Given the description of an element on the screen output the (x, y) to click on. 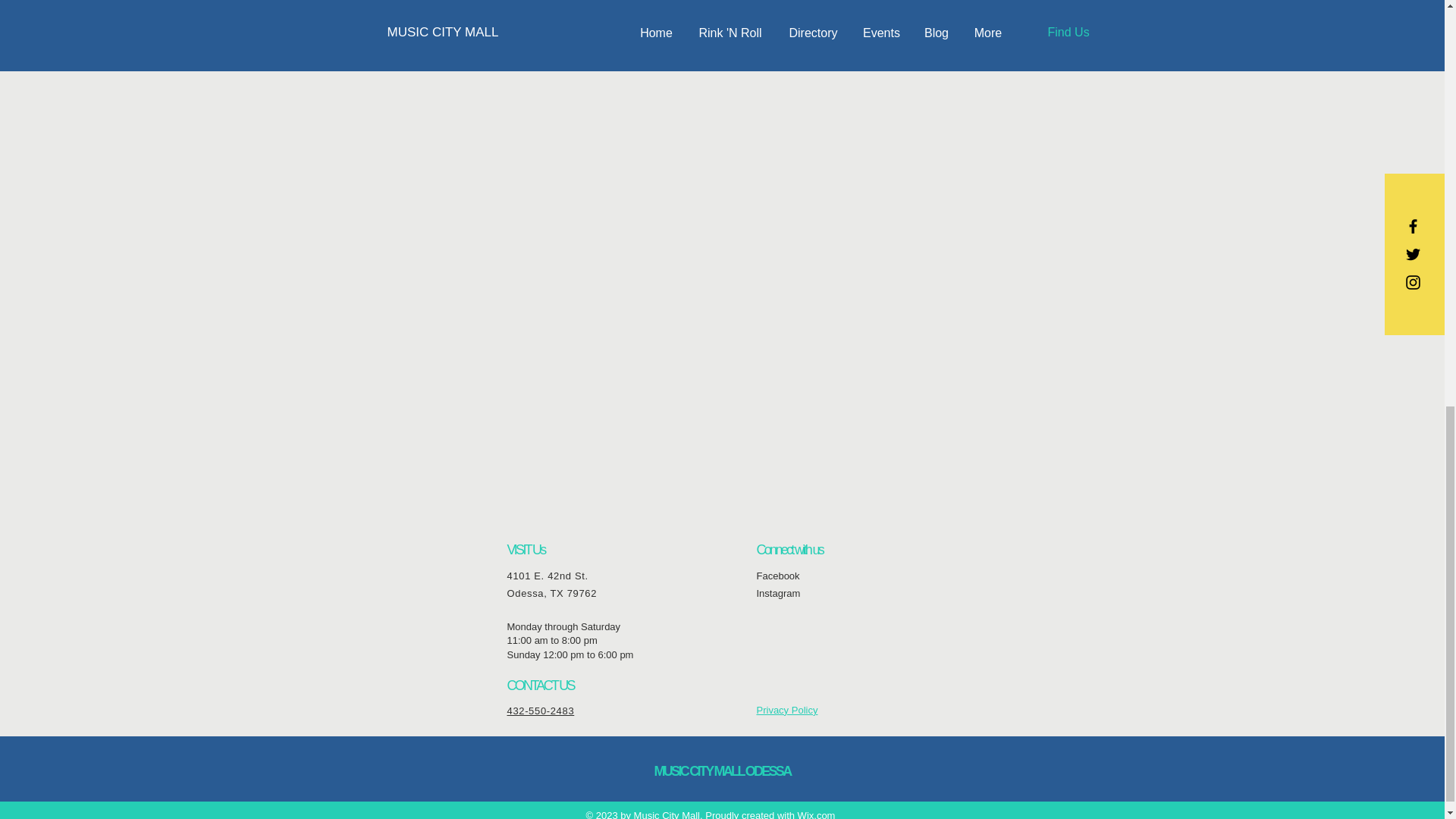
Wix.com (816, 814)
Privacy Policy (787, 709)
432-550-2483 (539, 710)
Facebook (778, 575)
Instagram (778, 593)
